Given the description of an element on the screen output the (x, y) to click on. 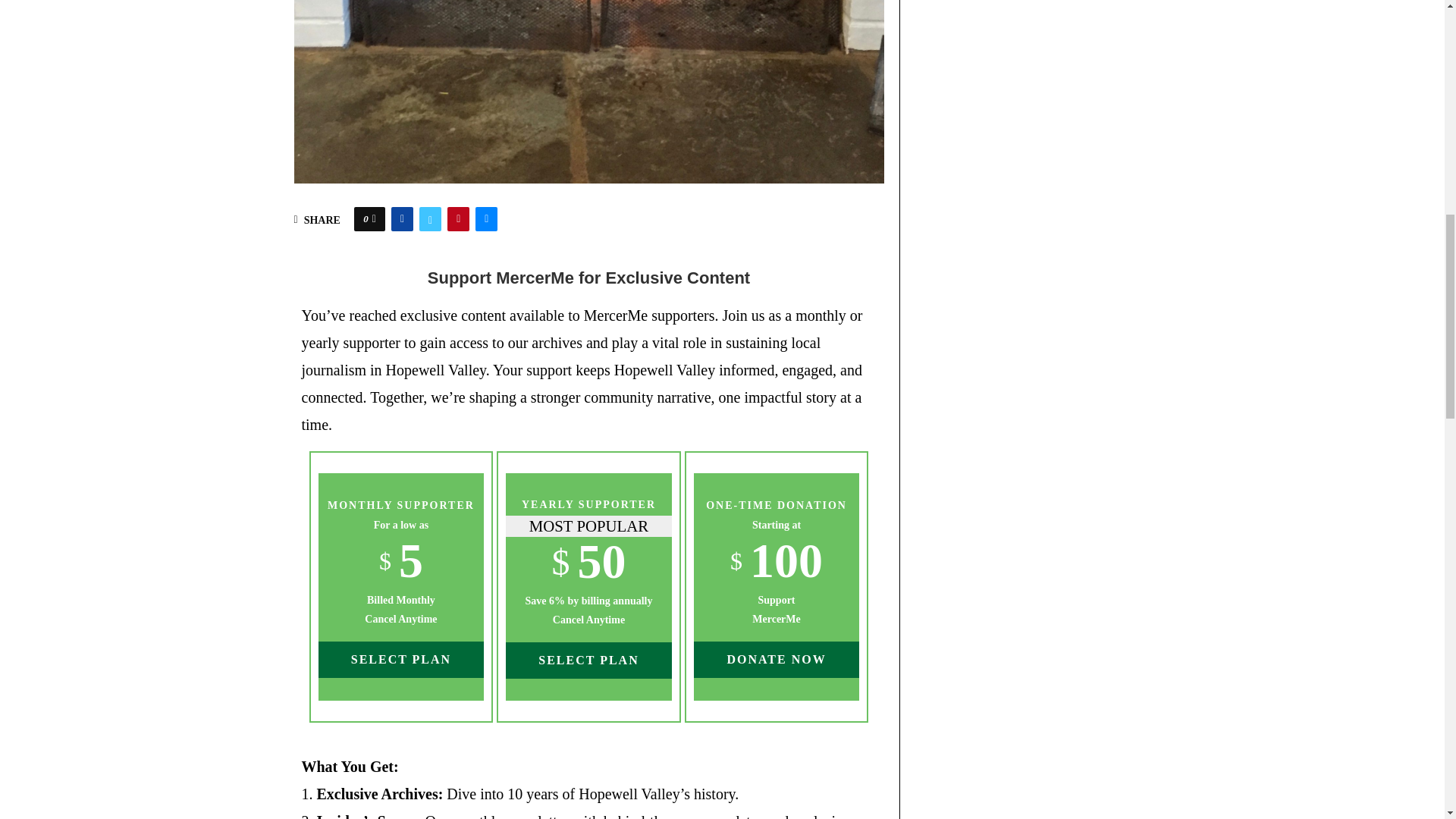
fire fireplace (588, 91)
